Given the description of an element on the screen output the (x, y) to click on. 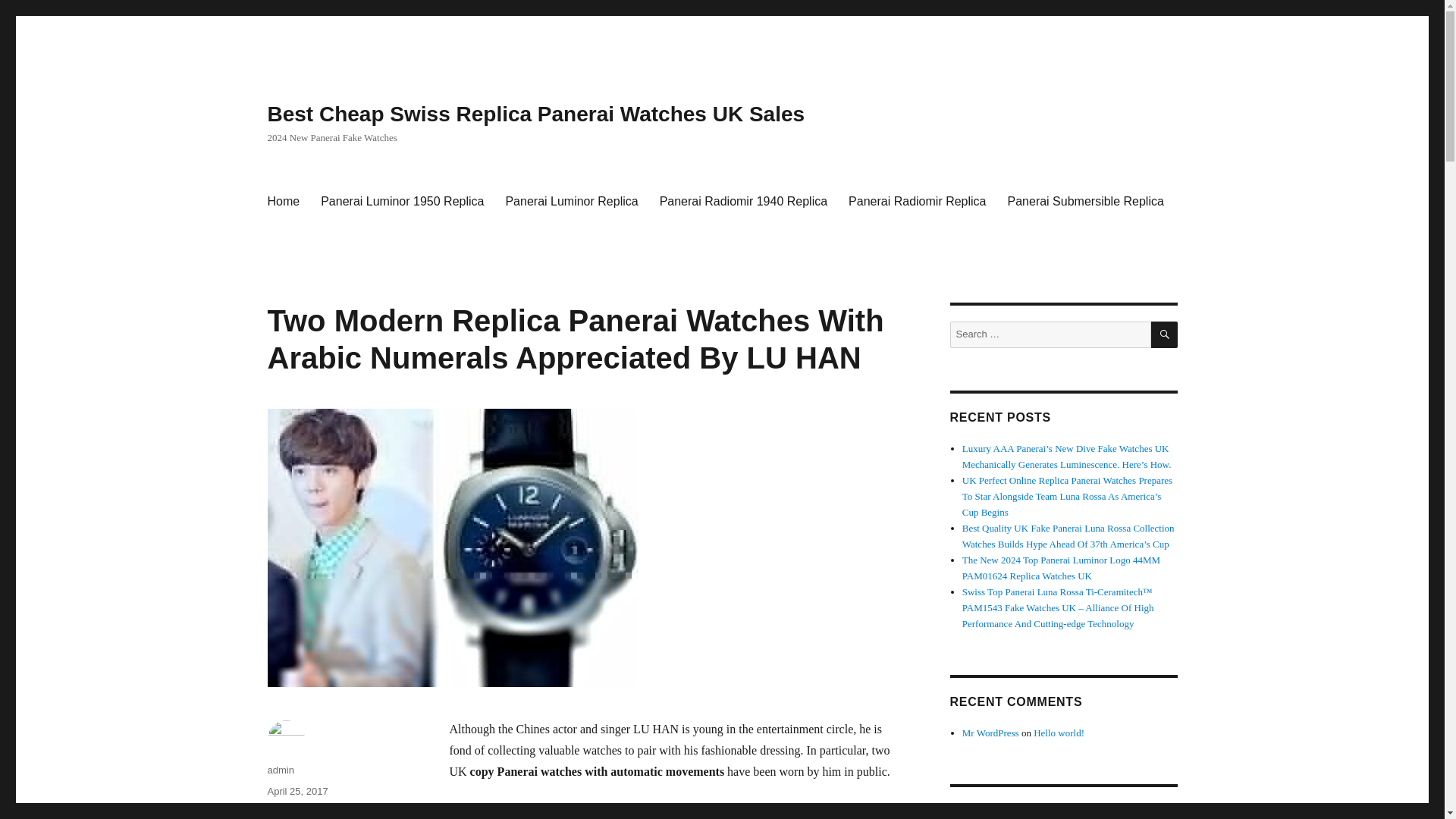
Panerai Submersible Replica (1085, 201)
admin (280, 769)
Mr WordPress (990, 732)
April 25, 2017 (296, 790)
Panerai Luminor Replica (320, 812)
Panerai Radiomir Replica (916, 201)
SEARCH (1164, 334)
Panerai Luminor Replica (571, 201)
Best Cheap Swiss Replica Panerai Watches UK Sales (535, 114)
